Given the description of an element on the screen output the (x, y) to click on. 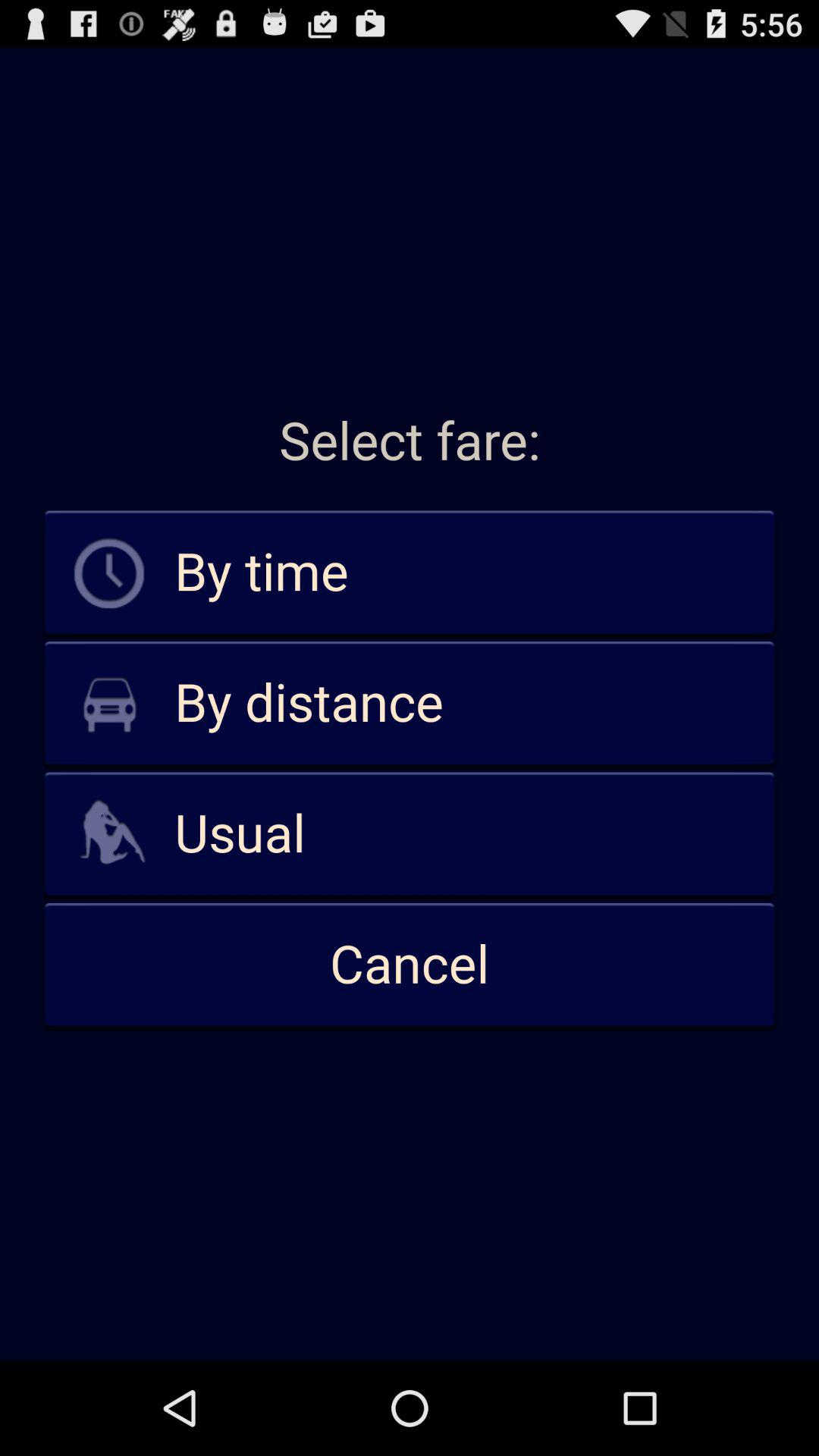
select icon below the usual icon (409, 965)
